Given the description of an element on the screen output the (x, y) to click on. 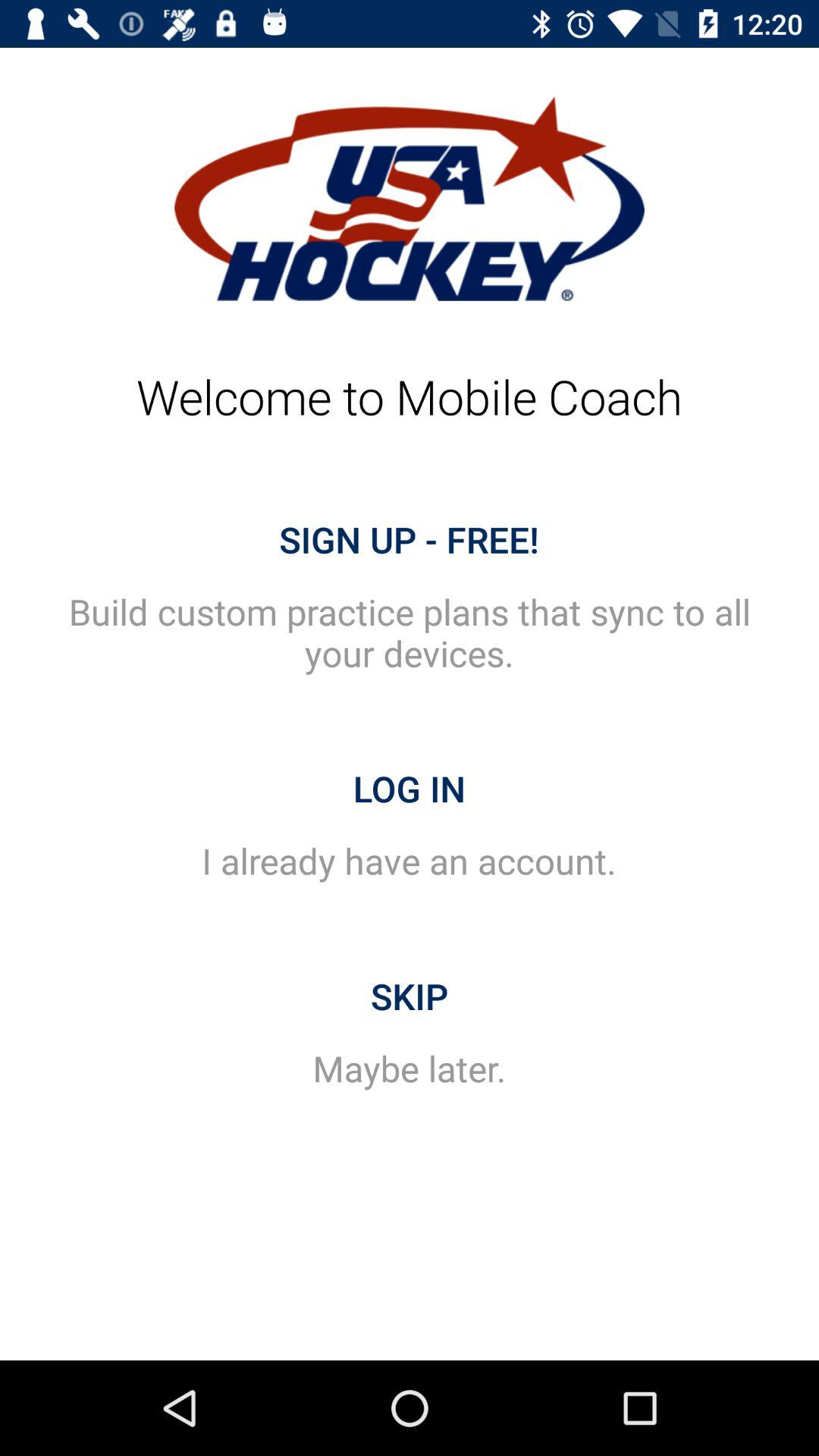
press skip item (409, 996)
